Given the description of an element on the screen output the (x, y) to click on. 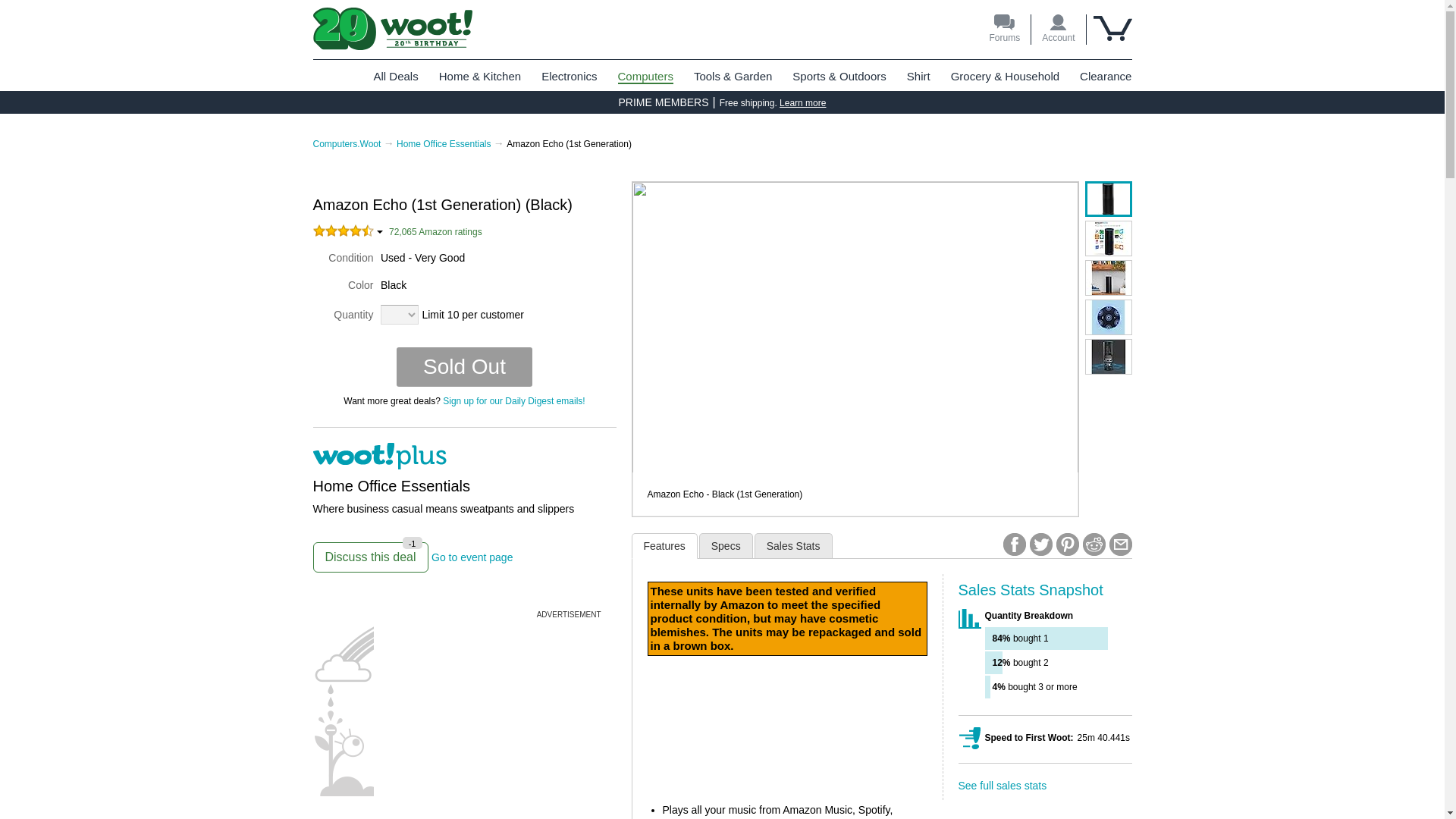
72,065 Amazon ratings (434, 231)
Computers.Woot (346, 143)
Home Office Essentials (444, 143)
Clearance (1105, 75)
Forums (1004, 29)
Go to event page (370, 557)
Account (471, 557)
Shirt (1058, 29)
Learn more (918, 75)
All Deals (801, 102)
Electronics (394, 75)
Computers (568, 75)
Sign up for our Daily Digest emails! (644, 76)
Sold Out (513, 400)
